Given the description of an element on the screen output the (x, y) to click on. 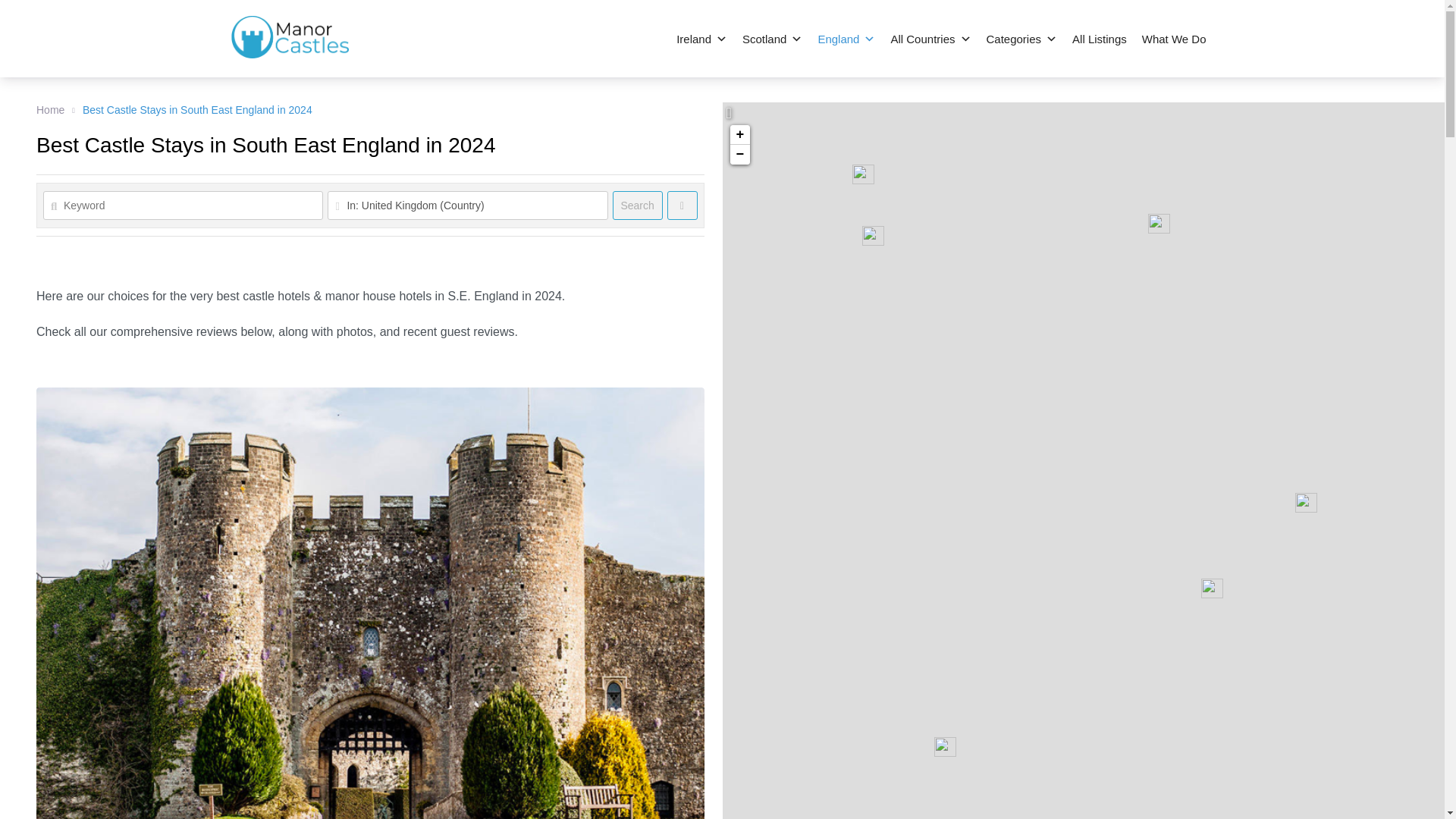
England (845, 39)
Gravetye Manor House Hotel (1212, 588)
All Listings (1099, 39)
Oakley Court Hotel, Windsor (872, 235)
Scotland (772, 39)
Hever Castle Hotel (1306, 502)
Ireland (701, 39)
What We Do (1174, 39)
Amberley Castle Hotel (945, 746)
Categories (1021, 39)
